Given the description of an element on the screen output the (x, y) to click on. 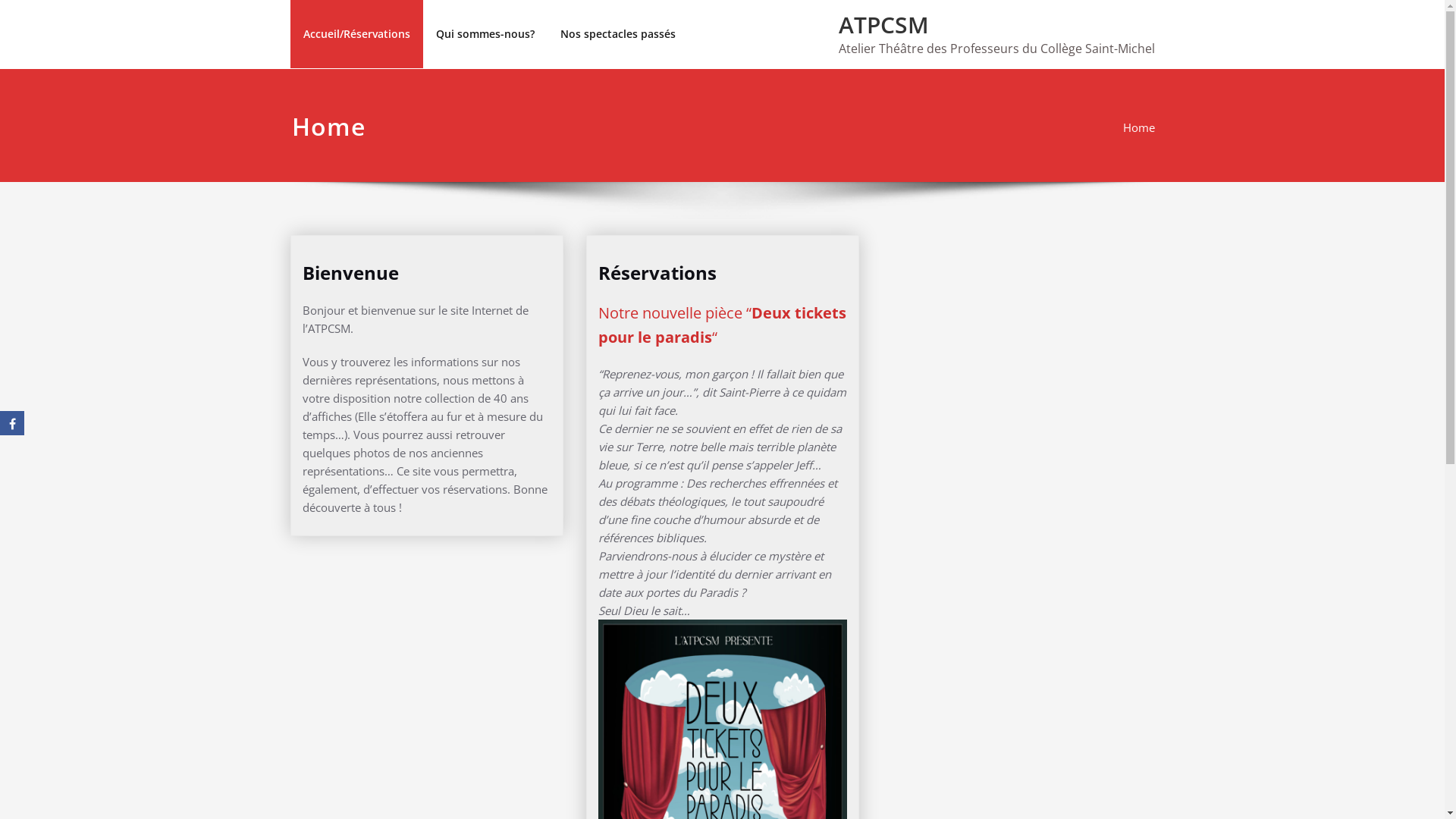
Home Element type: text (1138, 126)
Skip to content Element type: text (0, 0)
Bienvenue Element type: text (349, 272)
Qui sommes-nous? Element type: text (485, 34)
ATPCSM Element type: text (883, 24)
